Given the description of an element on the screen output the (x, y) to click on. 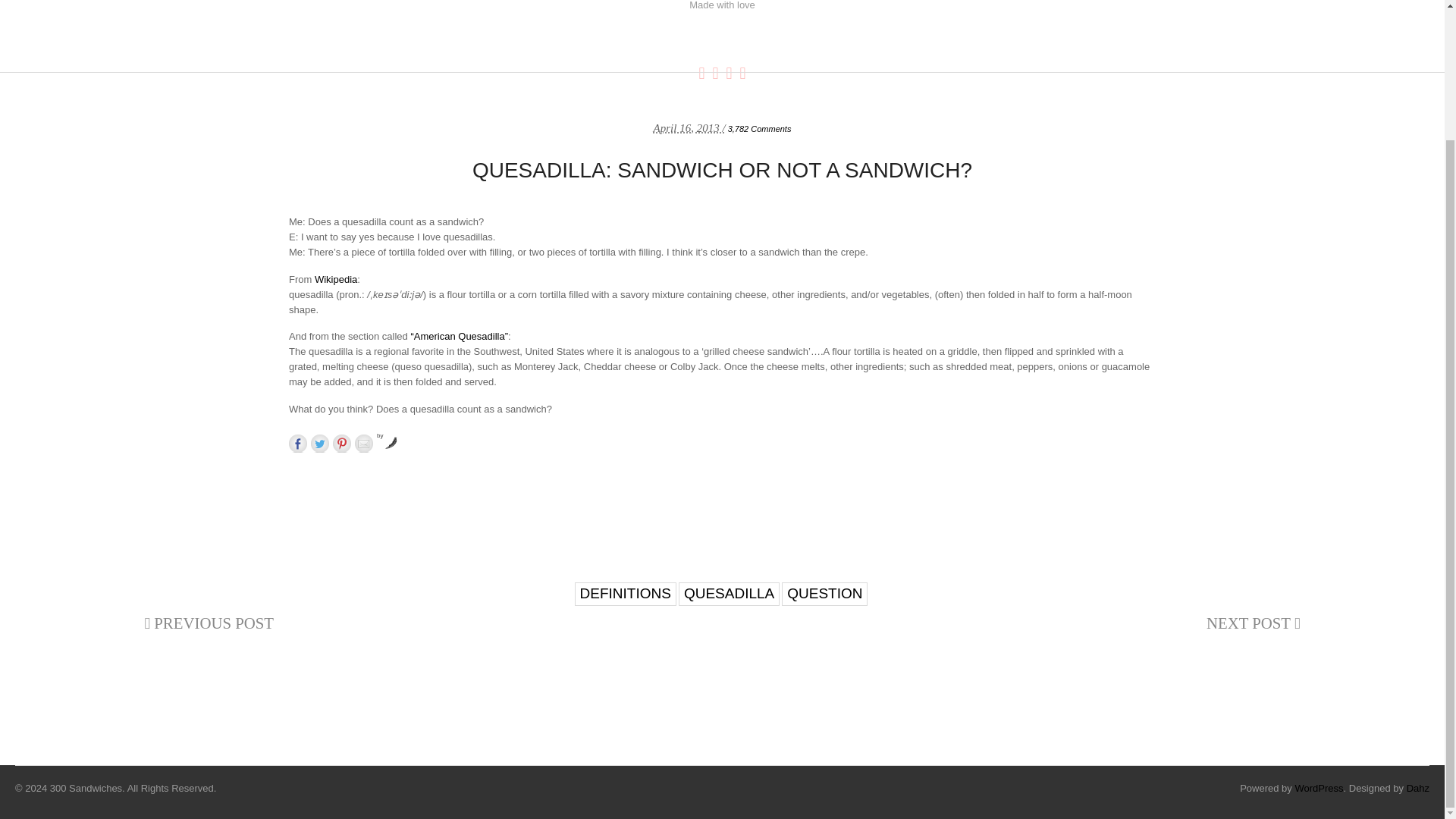
BLOG (545, 46)
ABOUT (666, 46)
RECIPES (603, 46)
Share on Facebook (297, 443)
WordPress Social Media Feather (387, 435)
3,782 Comments (760, 128)
Share by email (363, 443)
BIO (833, 46)
DEFINITIONS (626, 594)
CONTACT (888, 46)
BOOK (789, 46)
Pin it with Pinterest (341, 443)
Advertisement (721, 495)
WordPress (1318, 787)
by (387, 435)
